Given the description of an element on the screen output the (x, y) to click on. 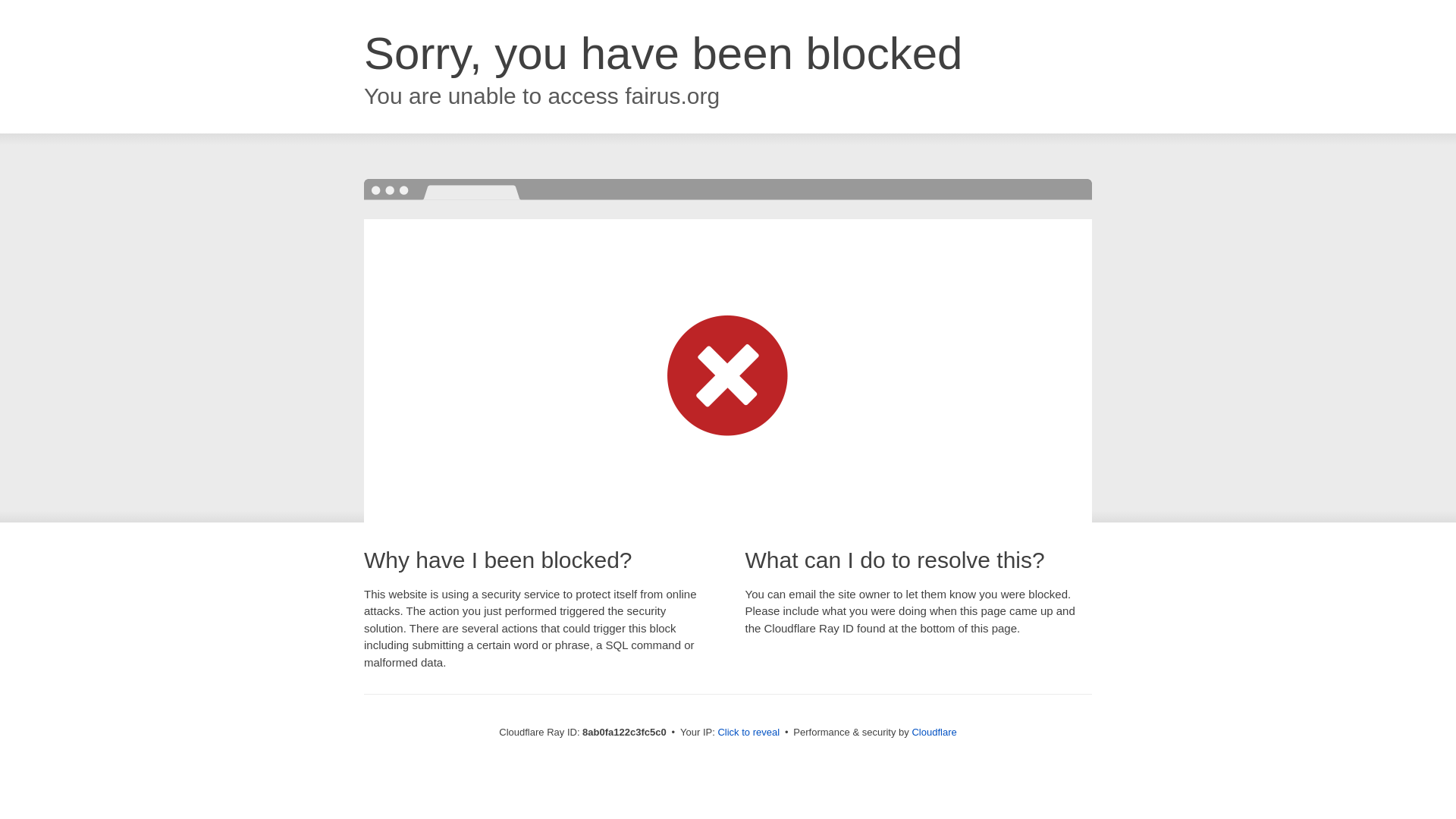
Click to reveal (747, 732)
Cloudflare (933, 731)
